Given the description of an element on the screen output the (x, y) to click on. 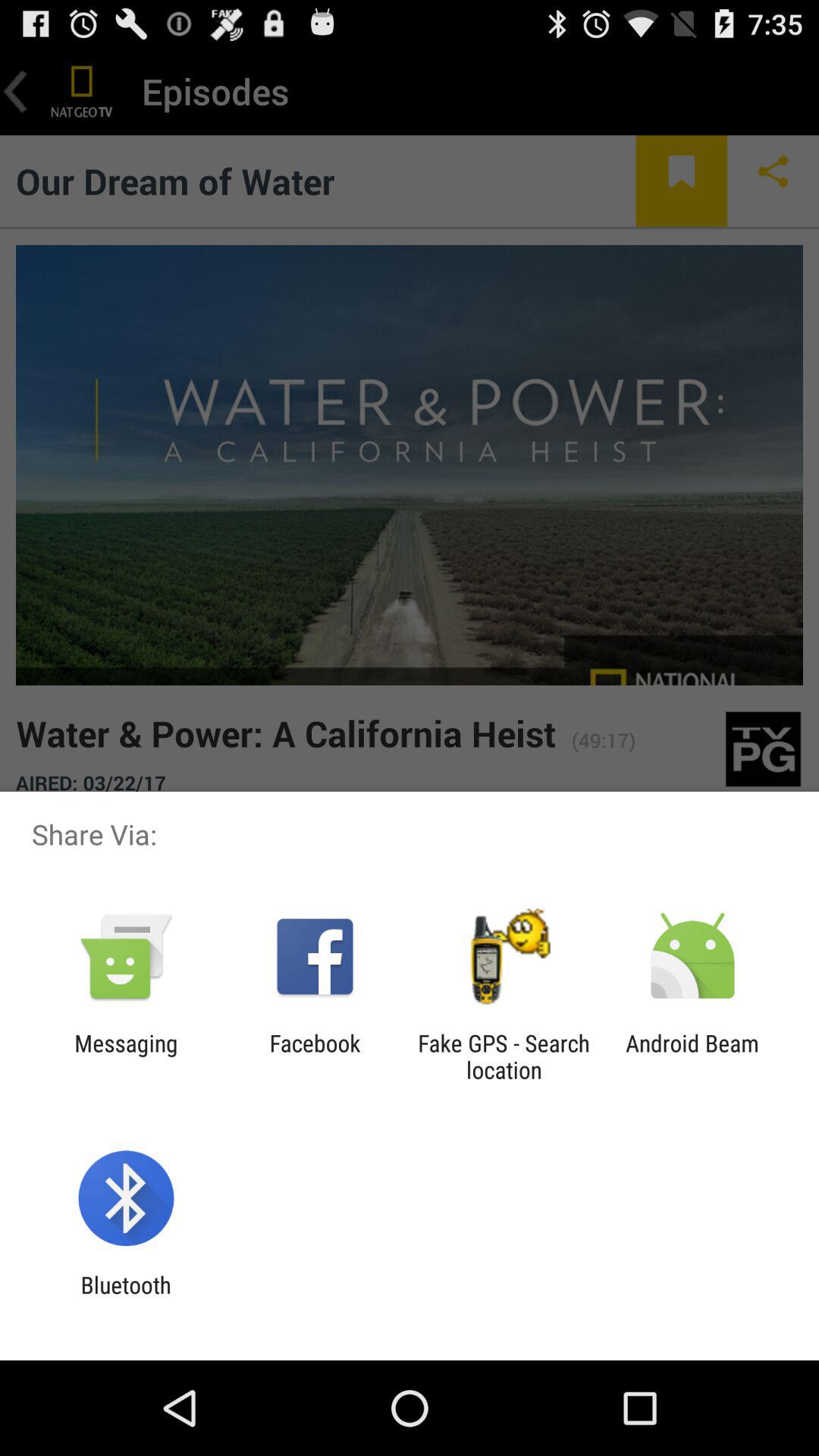
swipe to messaging app (126, 1056)
